Given the description of an element on the screen output the (x, y) to click on. 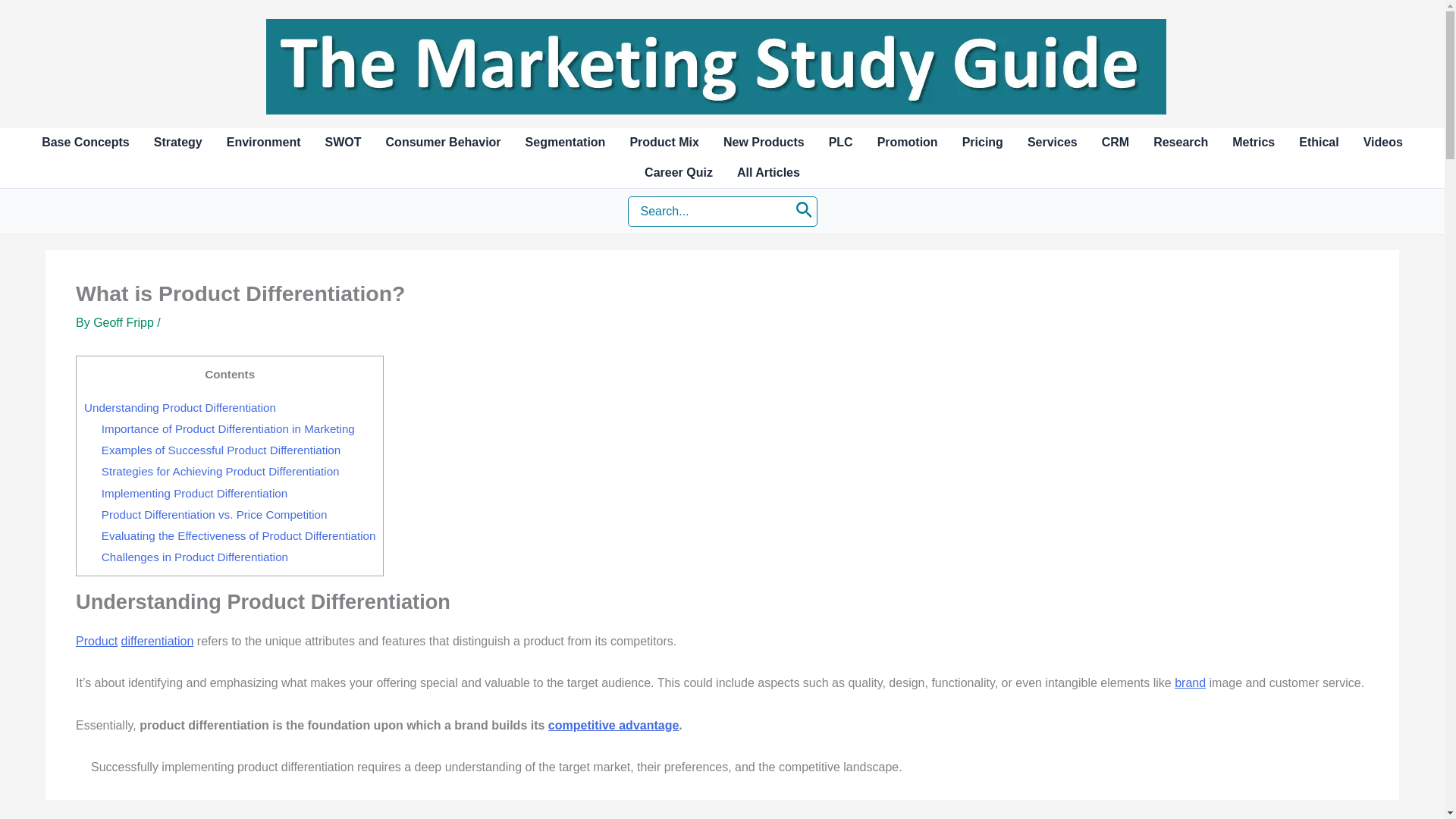
Research (1180, 142)
Environment (263, 142)
View all posts by Geoff Fripp (123, 322)
Strategy (177, 142)
Product Mix (664, 142)
All Articles (768, 173)
Metrics (1253, 142)
Segmentation (565, 142)
Consumer Behavior (443, 142)
Base Concepts (85, 142)
SWOT (343, 142)
CRM (1115, 142)
PLC (840, 142)
New Products (763, 142)
Career Quiz (678, 173)
